Given the description of an element on the screen output the (x, y) to click on. 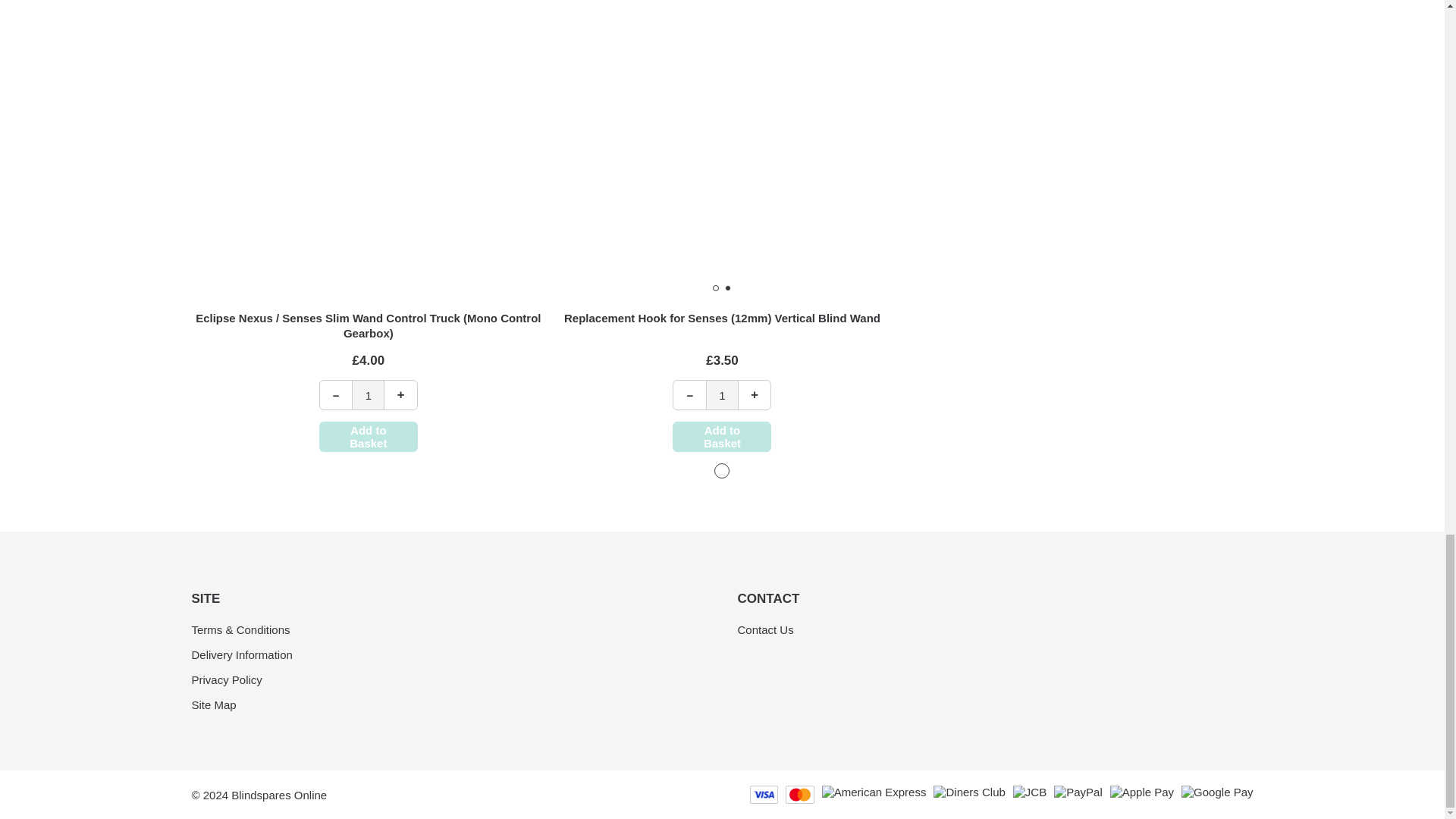
1 (722, 394)
1 (368, 394)
White (721, 470)
